Given the description of an element on the screen output the (x, y) to click on. 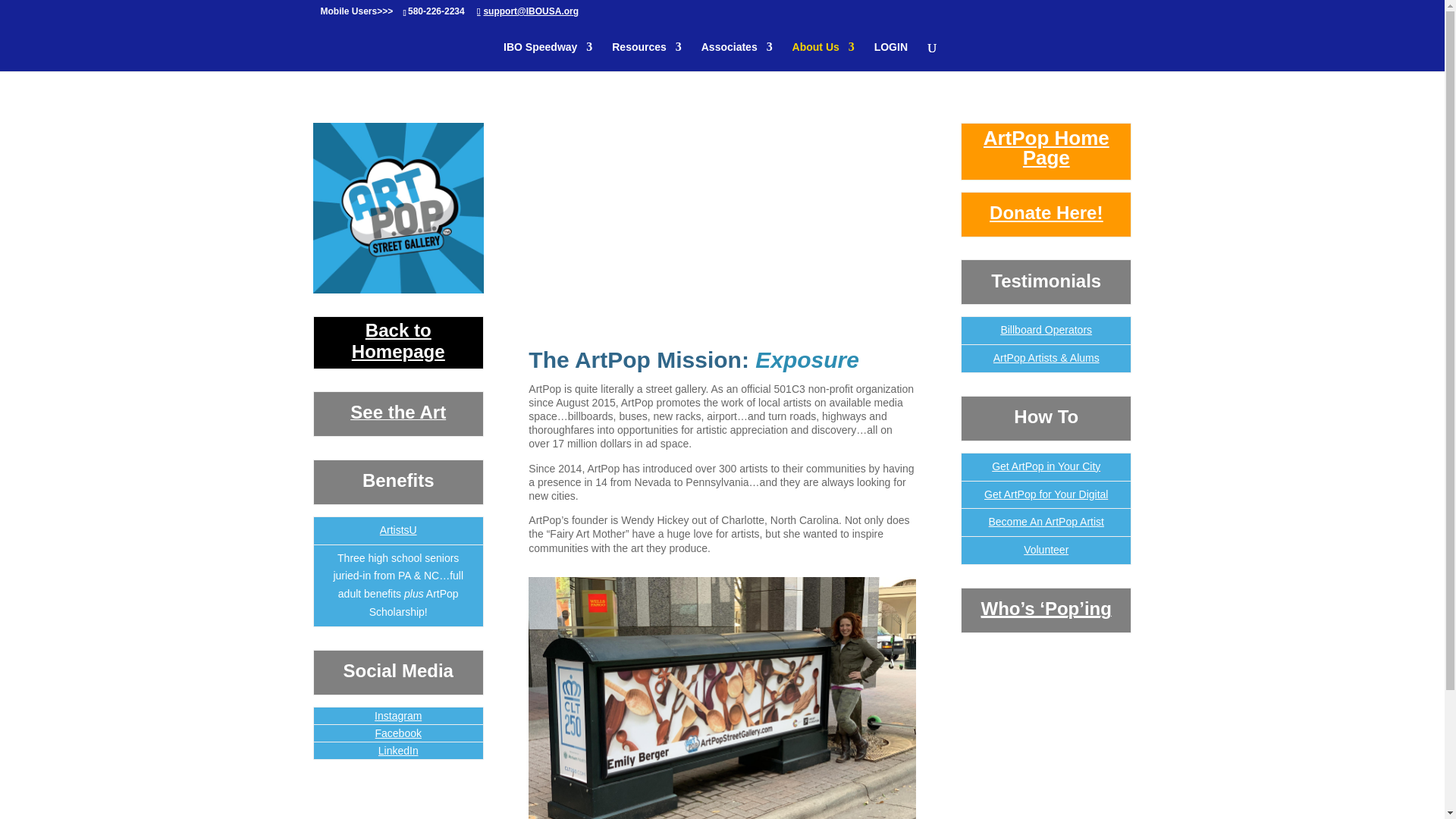
IBO Speedway (547, 56)
Associates (737, 56)
Resources (646, 56)
